Given the description of an element on the screen output the (x, y) to click on. 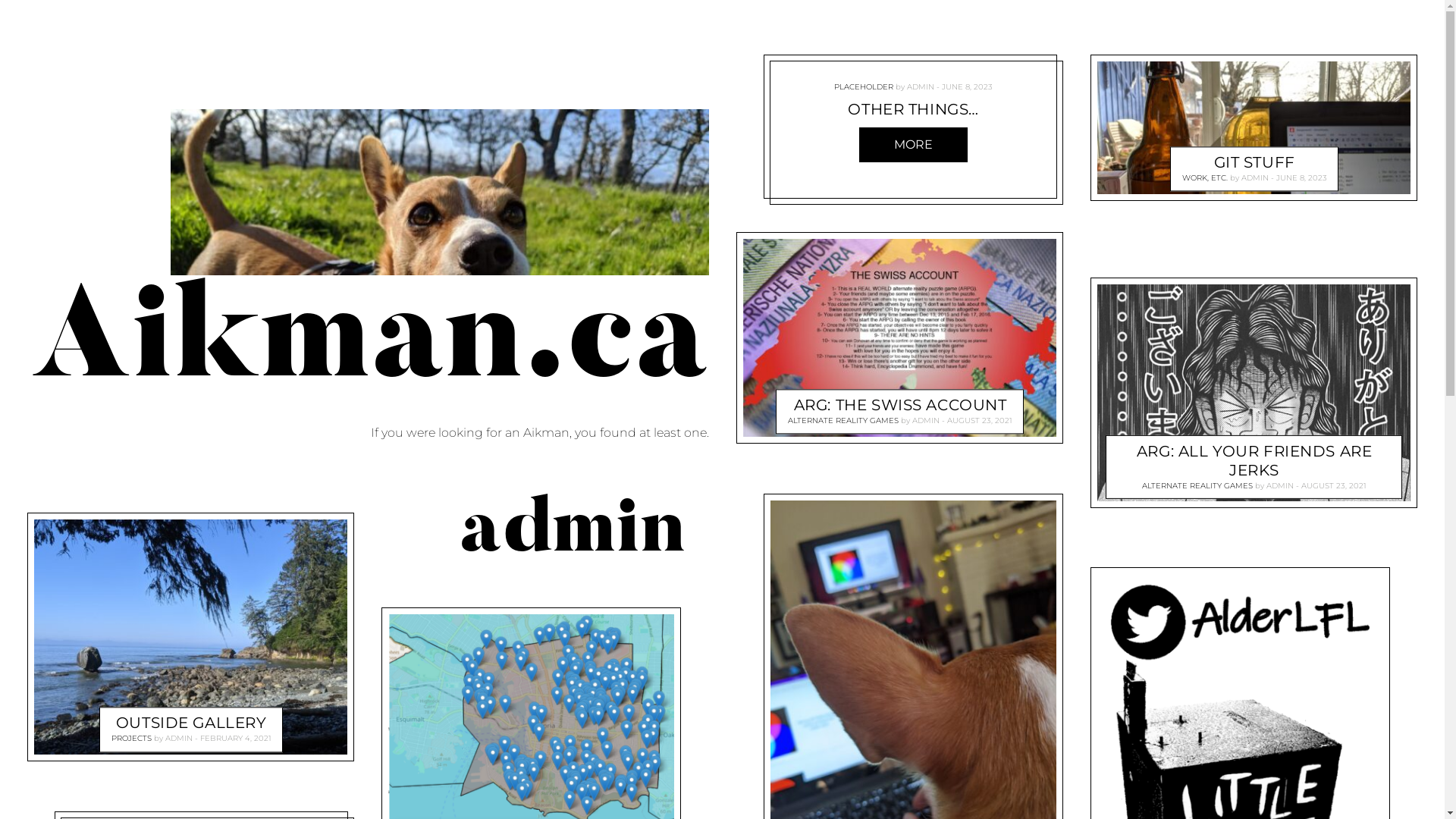
ADMIN Element type: text (178, 738)
FEBRUARY 4, 2021 Element type: text (235, 738)
ARG: ALL YOUR FRIENDS ARE JERKS Element type: text (1254, 460)
PROJECTS Element type: text (131, 738)
ALTERNATE REALITY GAMES Element type: text (842, 421)
Aikman.ca Element type: text (368, 344)
AUGUST 23, 2021 Element type: text (979, 421)
JUNE 8, 2023 Element type: text (1300, 177)
WORK, ETC. Element type: text (1203, 177)
PLACEHOLDER Element type: text (863, 86)
ALTERNATE REALITY GAMES Element type: text (1197, 485)
ADMIN Element type: text (925, 421)
OUTSIDE GALLERY Element type: text (191, 723)
ARG: THE SWISS ACCOUNT Element type: text (899, 405)
MORE Element type: text (913, 144)
ADMIN Element type: text (920, 86)
AUGUST 23, 2021 Element type: text (1333, 485)
JUNE 8, 2023 Element type: text (966, 86)
ADMIN Element type: text (1279, 485)
ADMIN Element type: text (1253, 177)
GIT STUFF Element type: text (1253, 162)
